Given the description of an element on the screen output the (x, y) to click on. 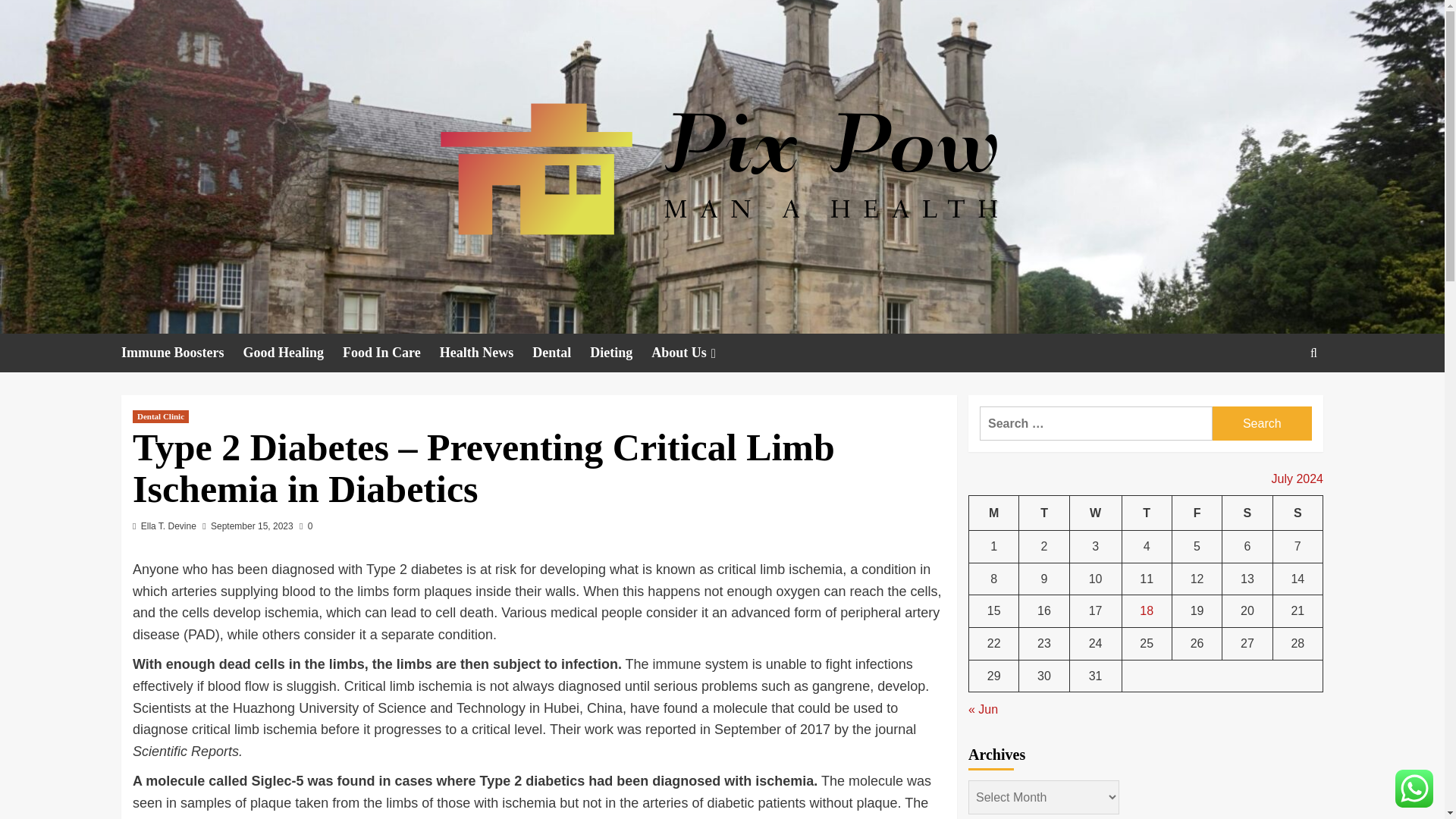
Immune Boosters (181, 352)
Ella T. Devine (168, 525)
Search (1261, 423)
Dieting (619, 352)
Search (1278, 399)
Wednesday (1094, 512)
Monday (994, 512)
September 15, 2023 (252, 525)
About Us (694, 352)
Saturday (1247, 512)
Thursday (1146, 512)
0 (306, 525)
Health News (485, 352)
Good Healing (292, 352)
Dental Clinic (160, 416)
